Given the description of an element on the screen output the (x, y) to click on. 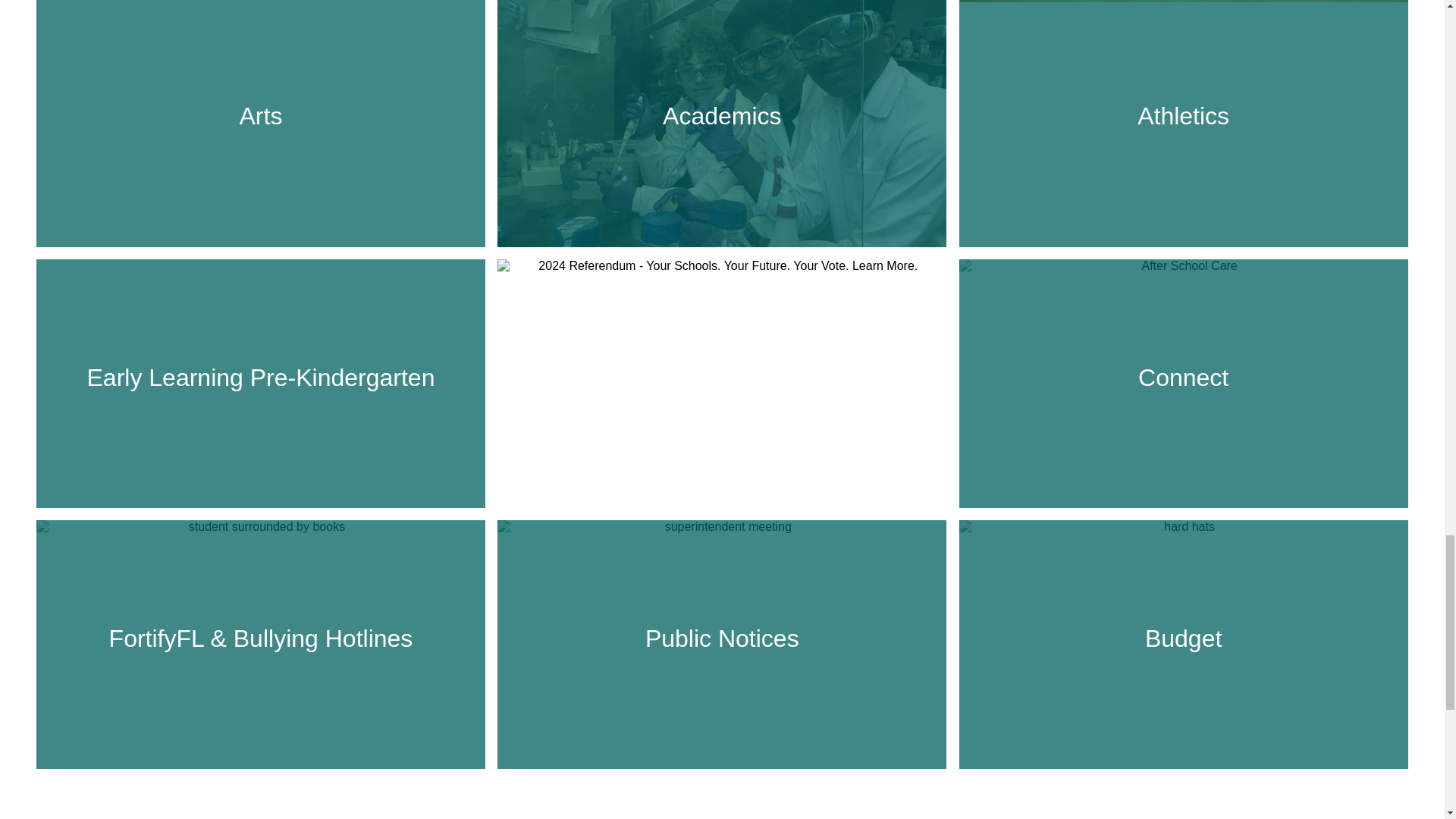
Connect (1183, 377)
Athletics (1183, 116)
Early Learning Pre-Kindergarten (260, 377)
Public Notices (721, 638)
Arts (260, 116)
Academics (721, 116)
Budget (1183, 638)
